Given the description of an element on the screen output the (x, y) to click on. 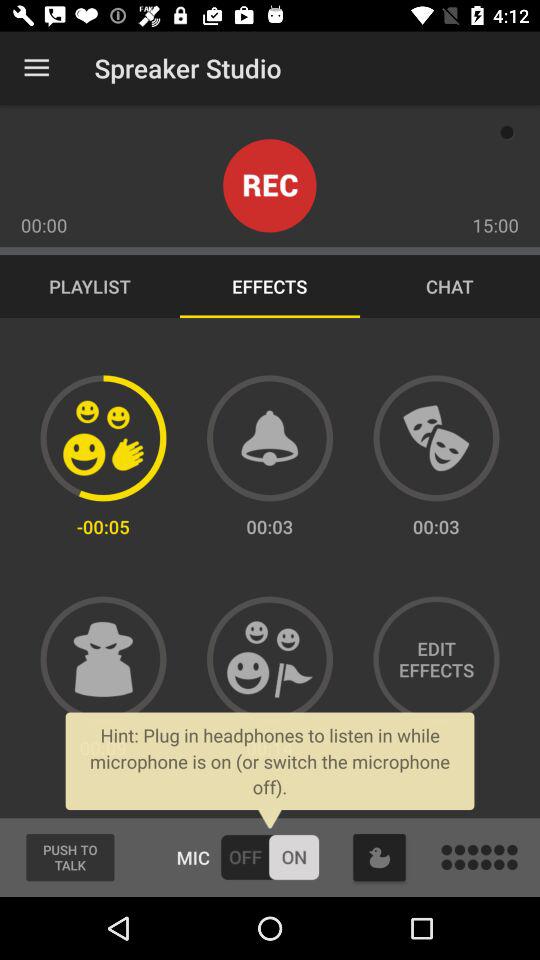
add effect (436, 438)
